Given the description of an element on the screen output the (x, y) to click on. 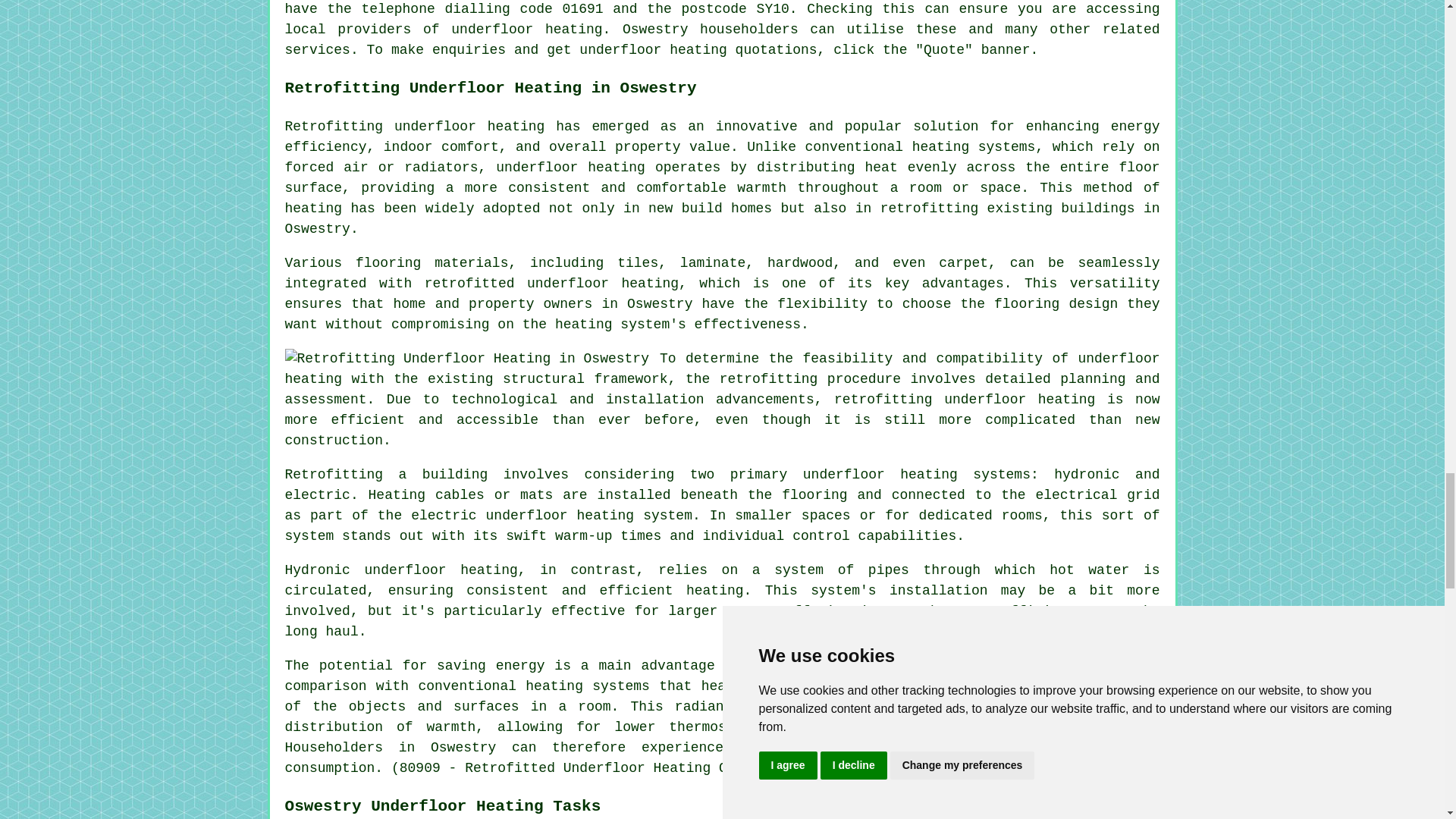
Retrofitting underfloor heating (414, 126)
Retrofitting Underfloor Heating in Oswestry (467, 358)
underfloor heating (441, 570)
underfloor heating (722, 368)
underfloor heating (526, 29)
